Given the description of an element on the screen output the (x, y) to click on. 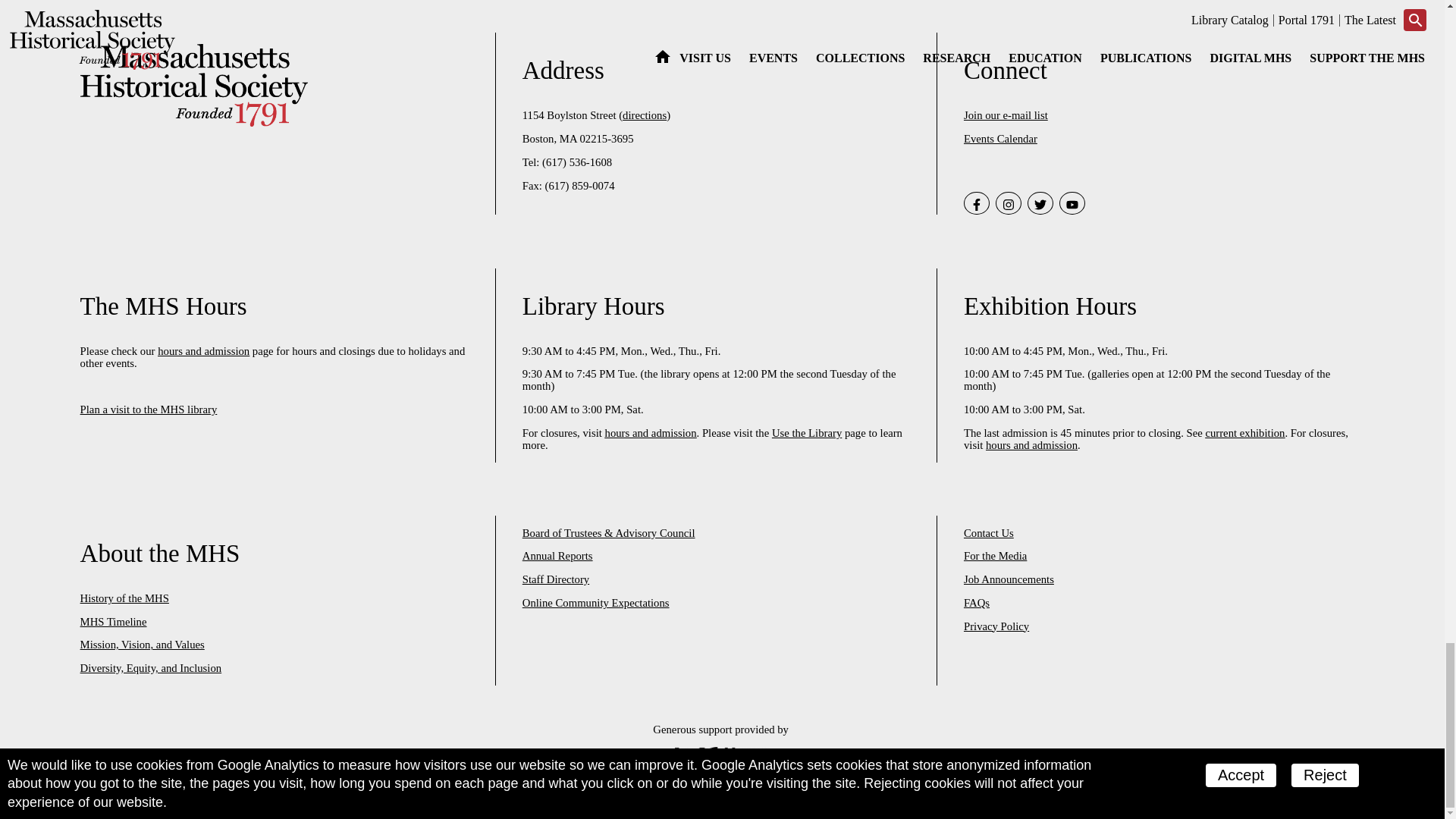
directions (644, 114)
Exhibitions (1244, 432)
Plan a visit to the library (148, 409)
Online Community Expectations (595, 603)
